Given the description of an element on the screen output the (x, y) to click on. 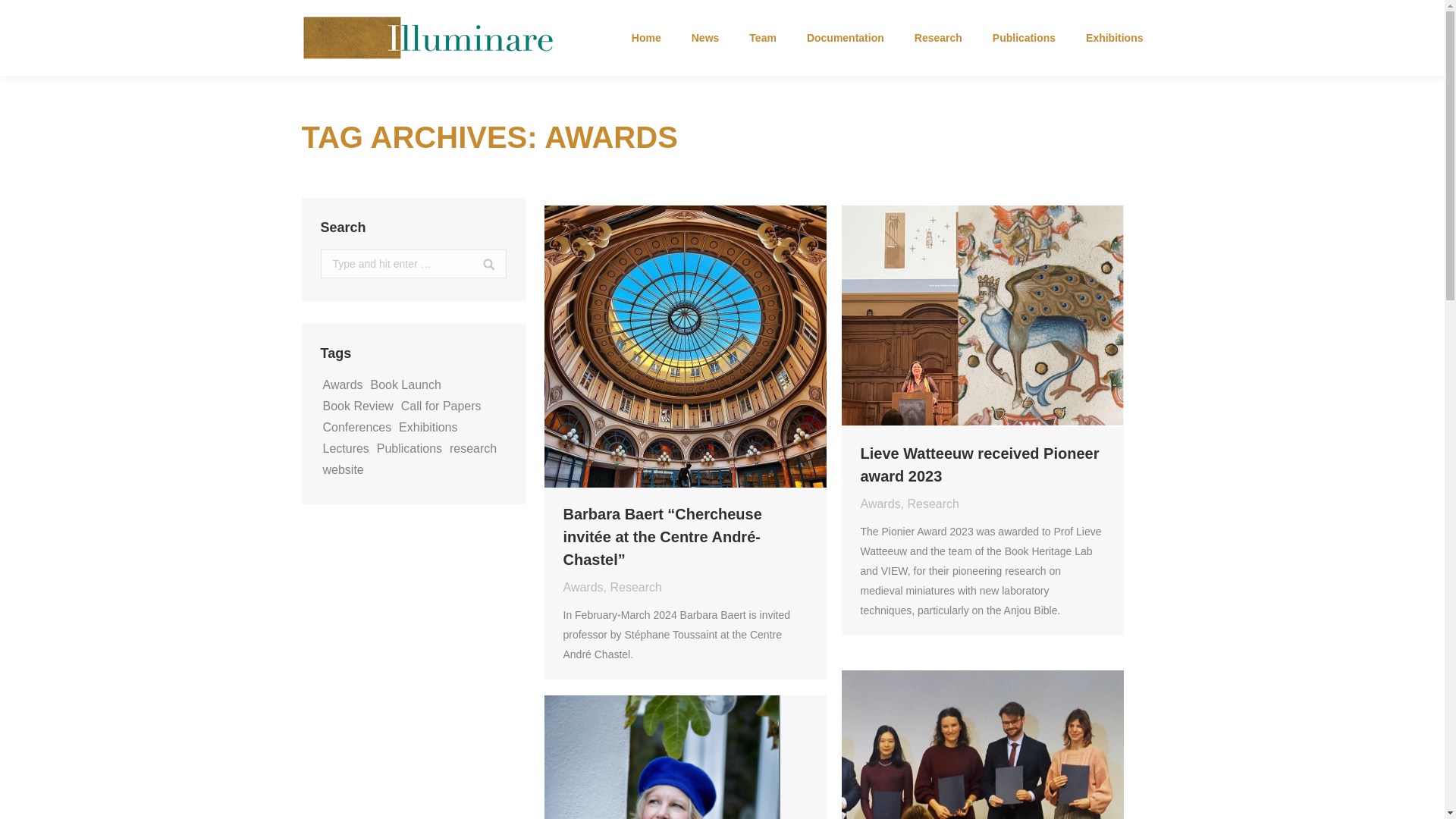
Research (635, 586)
Documentation (844, 37)
Publications (1023, 37)
Go! (481, 272)
Awards (879, 503)
Go! (481, 272)
Lieve Watteeuw received Pioneer award 2023 (981, 464)
Awards (582, 586)
Lieve Watteeuw received Pioneer award 2023 (981, 464)
Exhibitions (1114, 37)
